Given the description of an element on the screen output the (x, y) to click on. 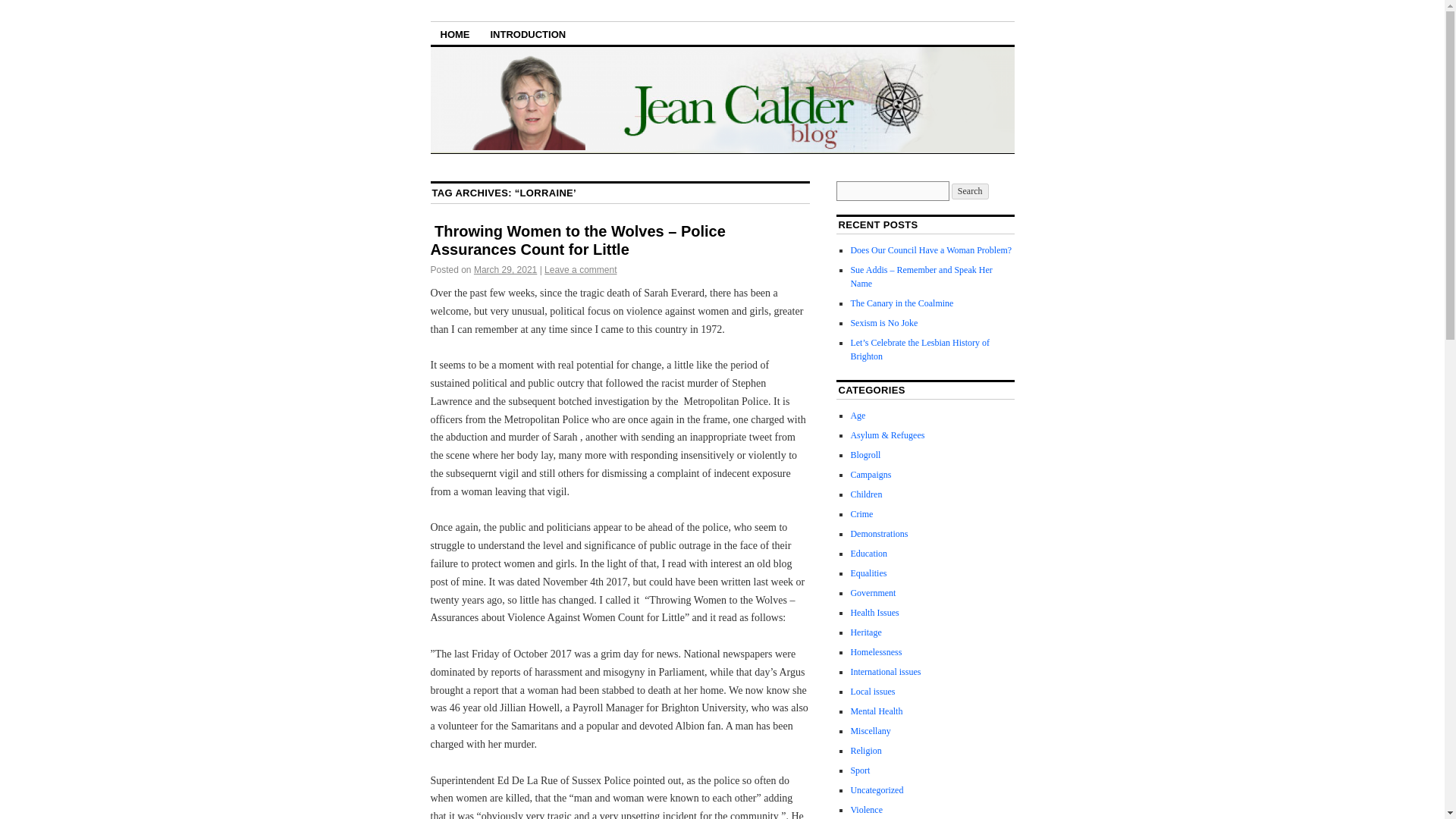
Demonstrations (878, 533)
Children (866, 493)
1:37 pm (505, 269)
Equalities (868, 573)
Crime (861, 513)
HOME (455, 33)
March 29, 2021 (505, 269)
Health Issues (874, 612)
The Canary in the Coalmine (901, 303)
INTRODUCTION (528, 33)
Search (970, 191)
Education (868, 552)
Government (872, 593)
Blogroll (865, 454)
Leave a comment (579, 269)
